Given the description of an element on the screen output the (x, y) to click on. 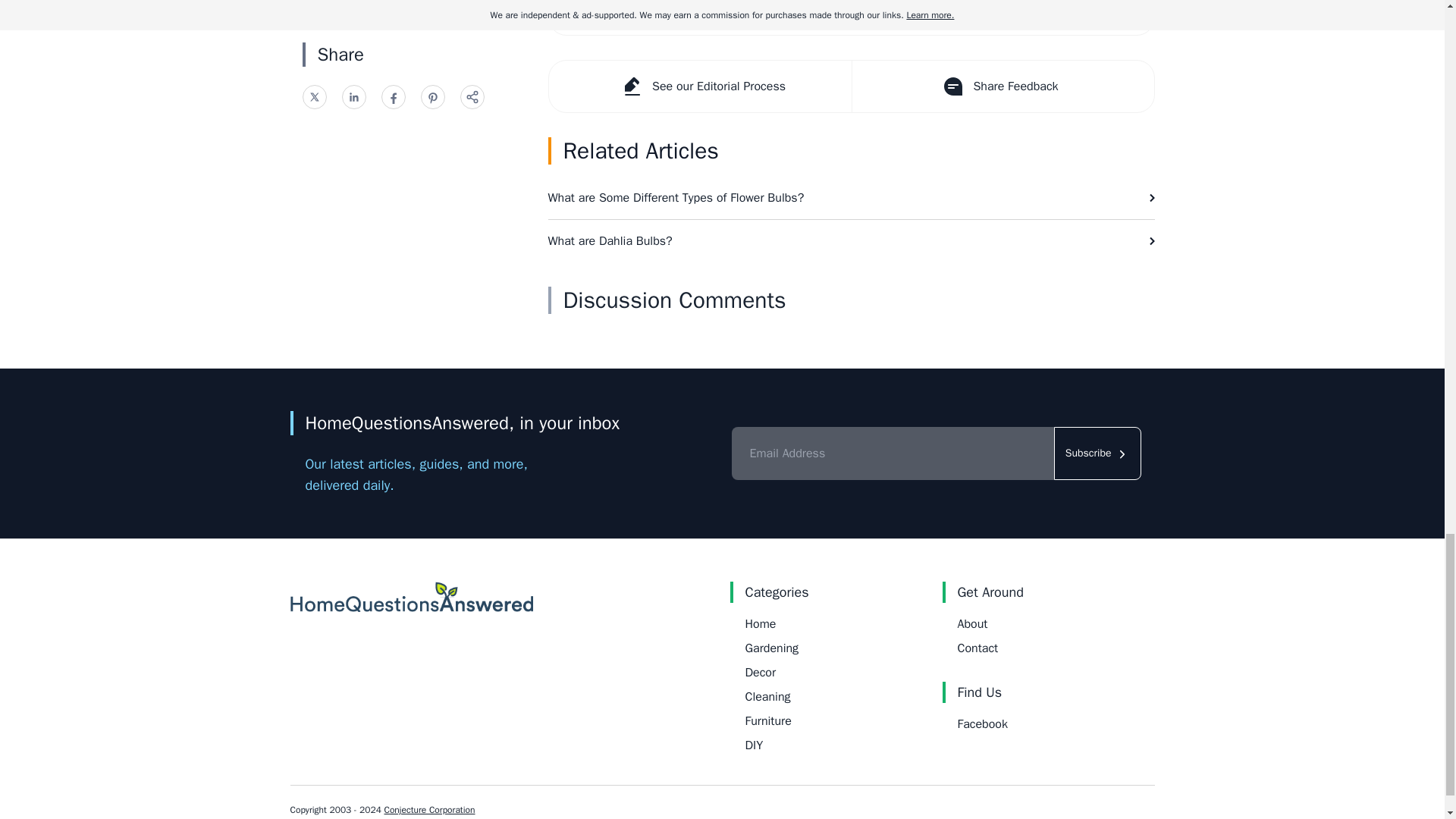
See our Editorial Process (699, 86)
What are Some Different Types of Flower Bulbs? (850, 197)
What are Dahlia Bulbs? (850, 241)
Share Feedback (1001, 86)
